Given the description of an element on the screen output the (x, y) to click on. 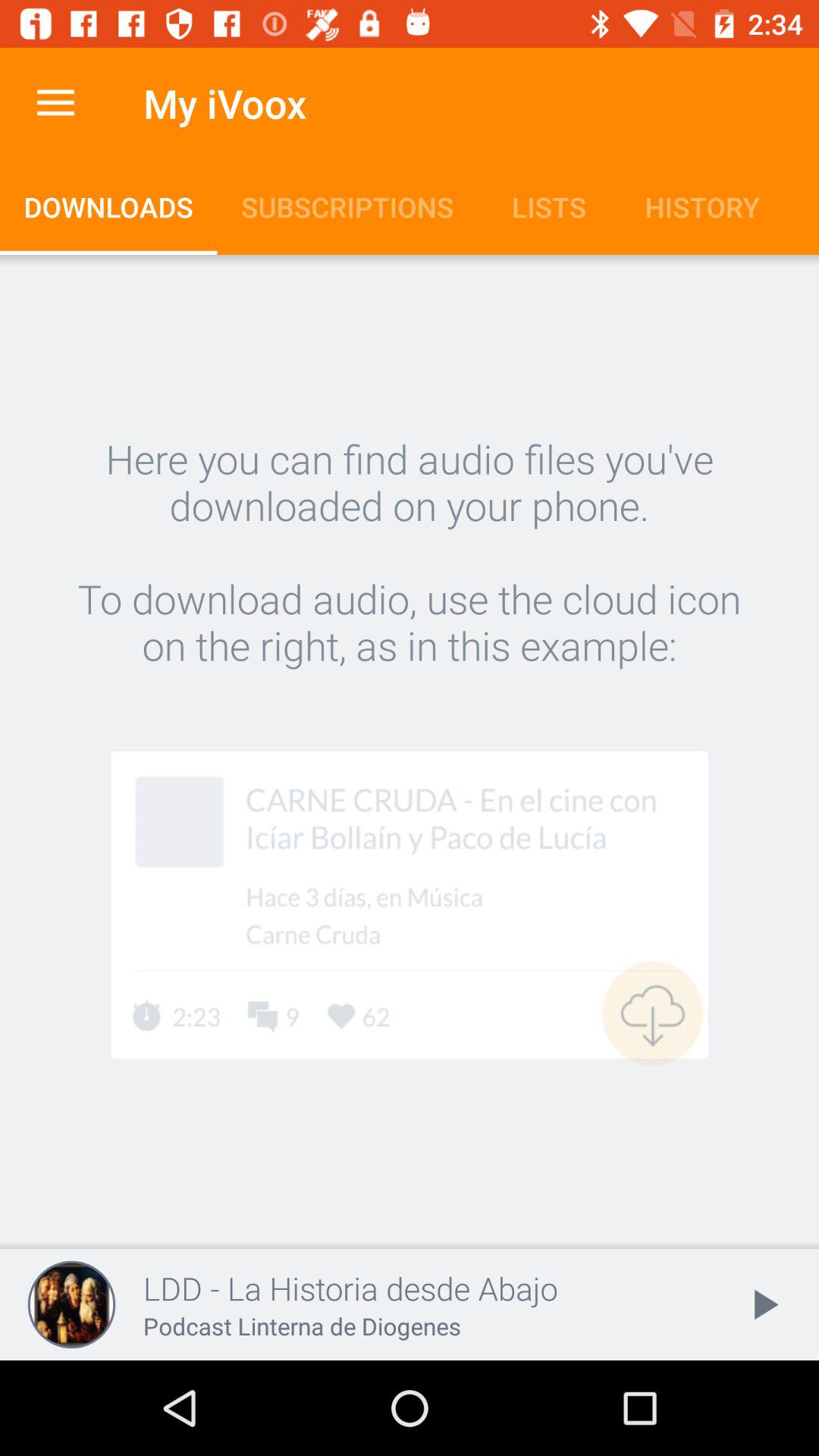
choose item at the bottom right corner (763, 1304)
